Given the description of an element on the screen output the (x, y) to click on. 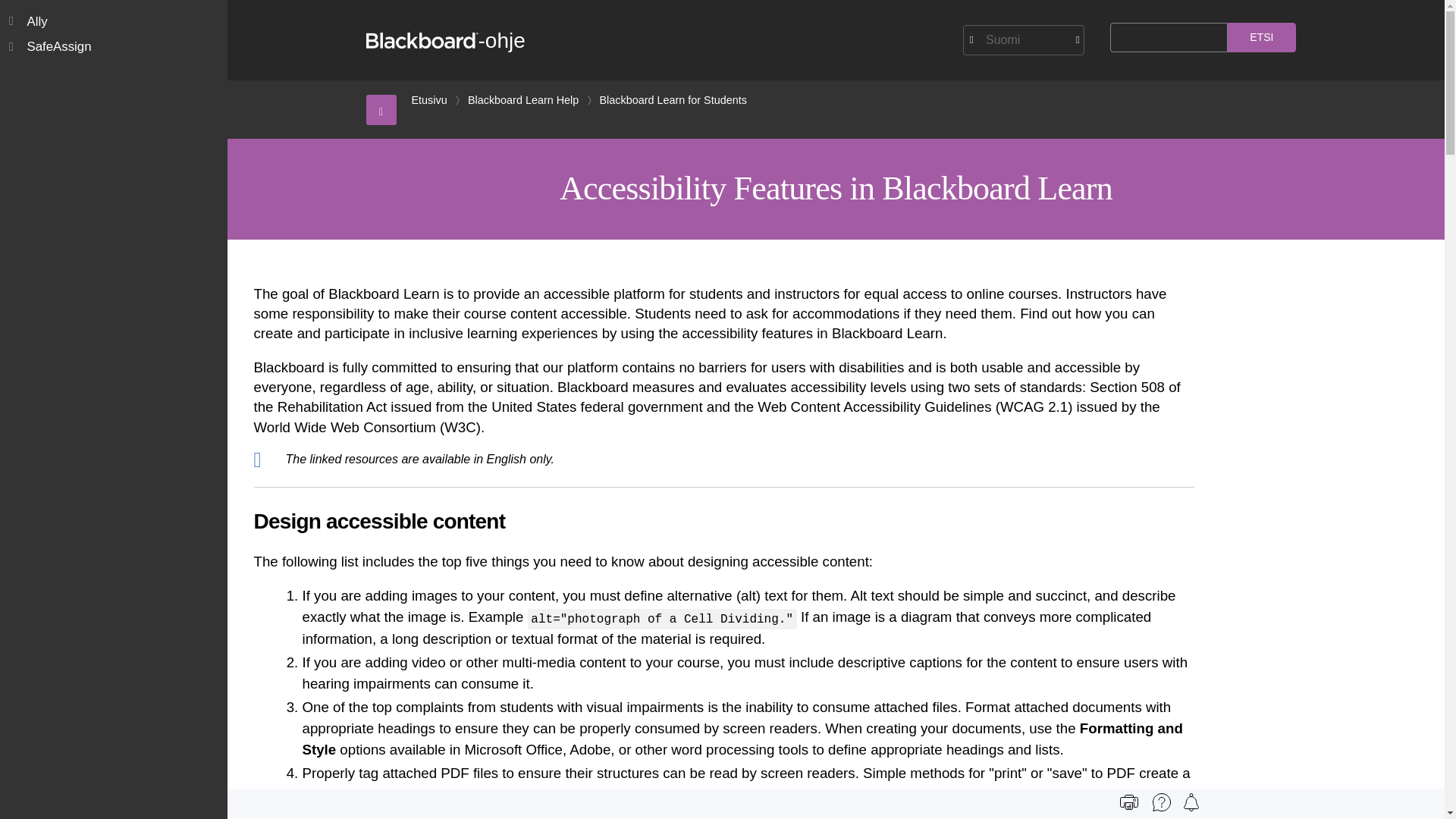
Meet PDF Accessibility Standards (851, 813)
Etsi (1261, 37)
Etusivu (428, 99)
Blackboard Learn Help (522, 99)
Blackboard Learn for Students (672, 99)
Etsi (1261, 37)
Blackboard-ohje (444, 40)
